Given the description of an element on the screen output the (x, y) to click on. 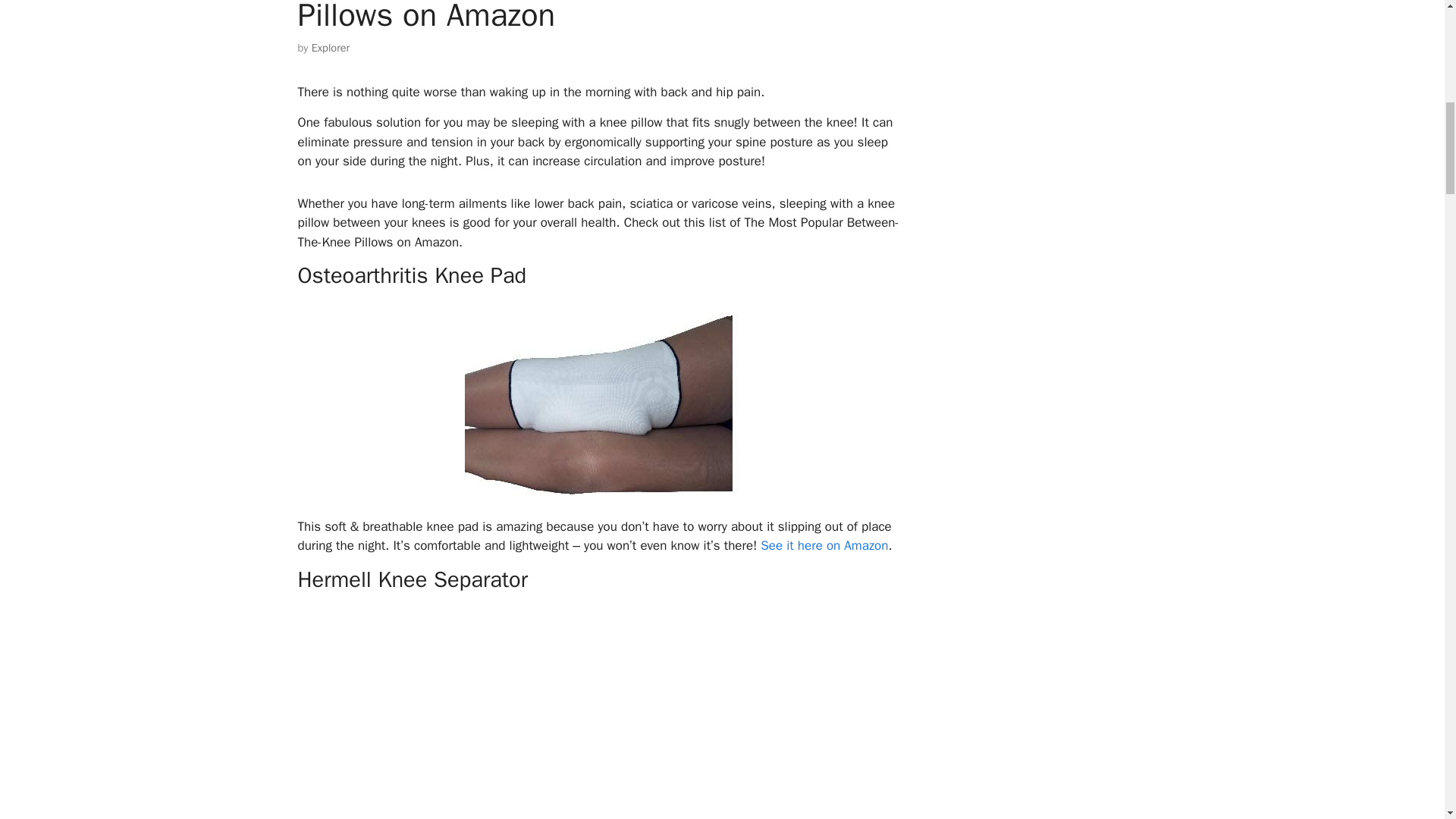
Explorer (330, 47)
Scroll back to top (1406, 720)
See it here on Amazon (824, 545)
View all posts by Explorer (330, 47)
